Given the description of an element on the screen output the (x, y) to click on. 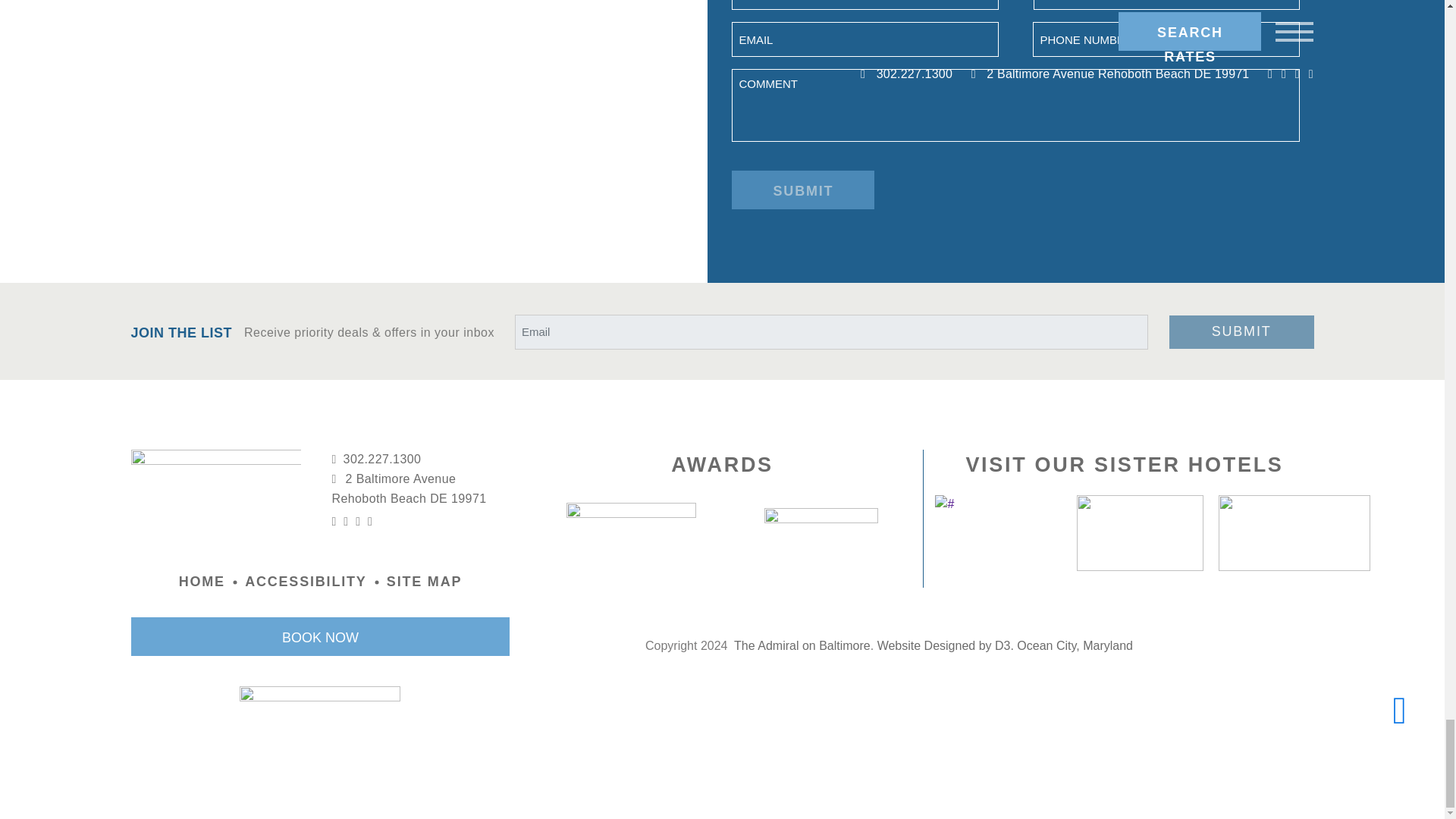
2 Baltimore Avenue Rehoboth Beach DE 19971 (421, 488)
SUBMIT (1241, 331)
302.227.1300 (421, 459)
SUBMIT (803, 189)
